Given the description of an element on the screen output the (x, y) to click on. 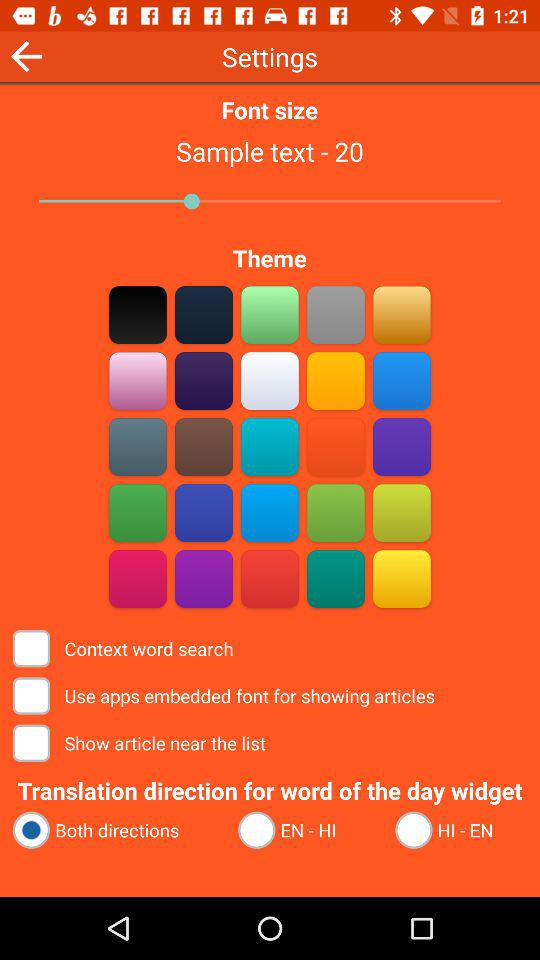
select the color blue (269, 446)
